Given the description of an element on the screen output the (x, y) to click on. 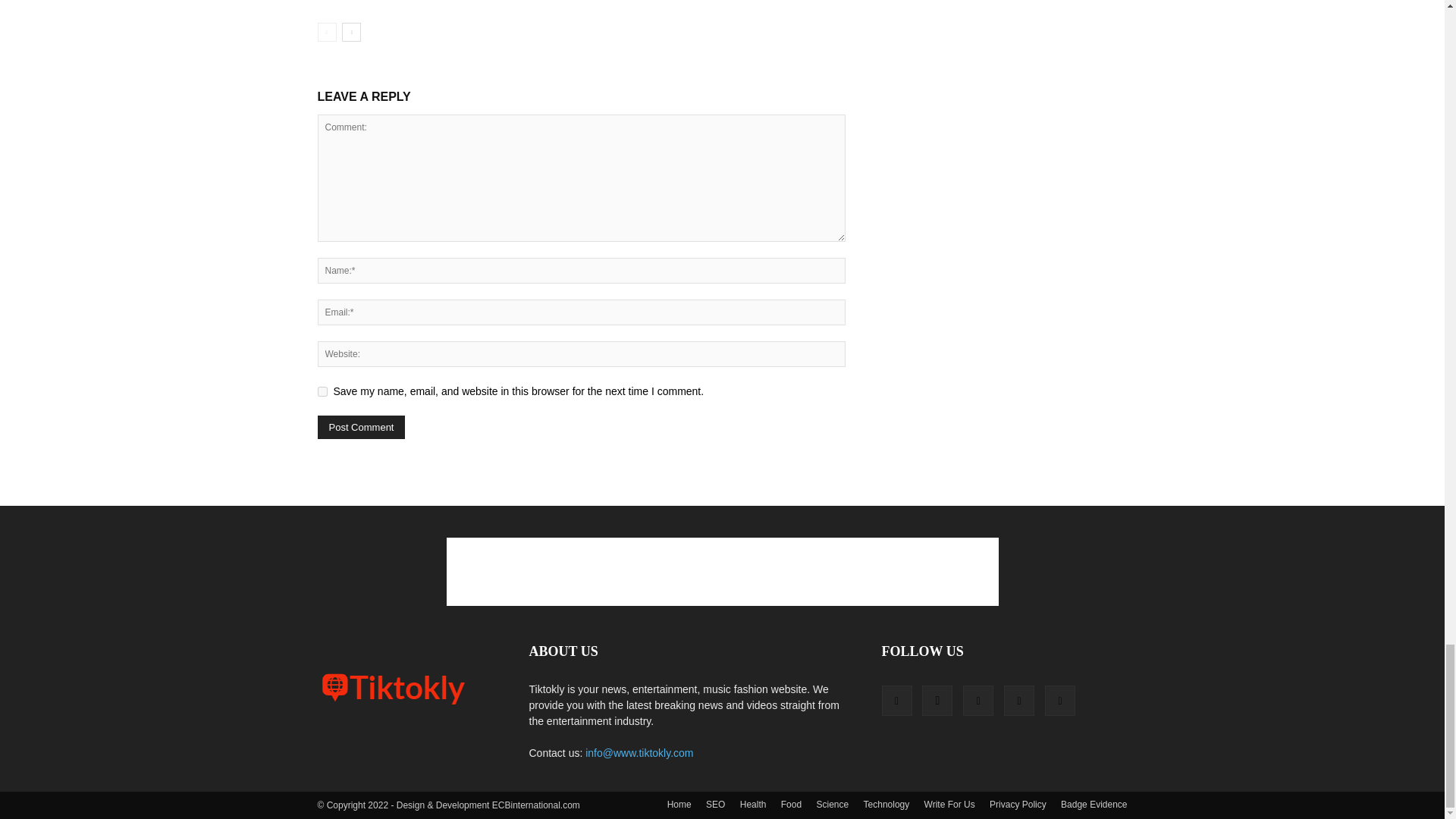
Post Comment (360, 426)
yes (321, 391)
